Given the description of an element on the screen output the (x, y) to click on. 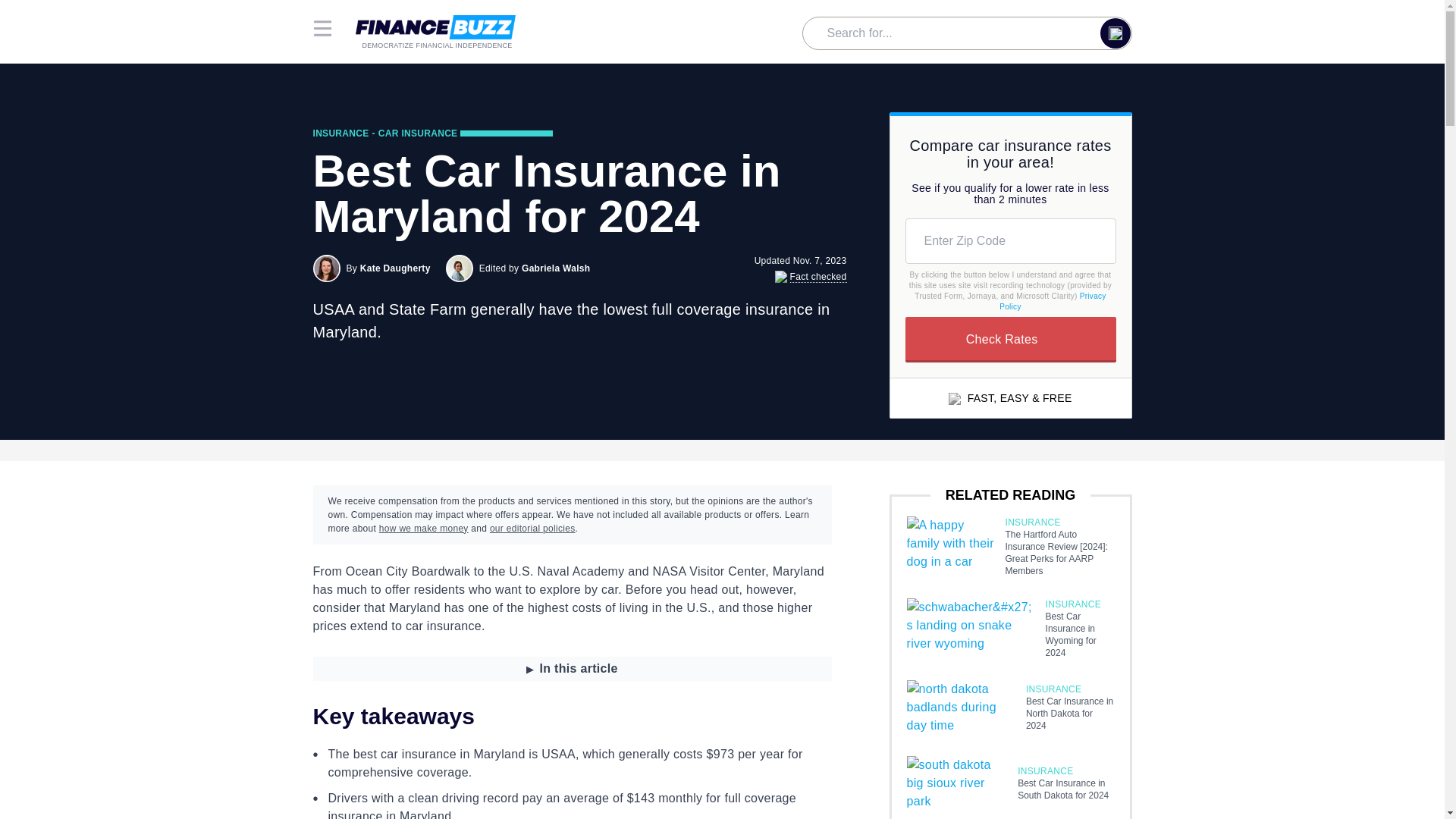
DEMOCRATIZE FINANCIAL INDEPENDENCE (435, 33)
